Given the description of an element on the screen output the (x, y) to click on. 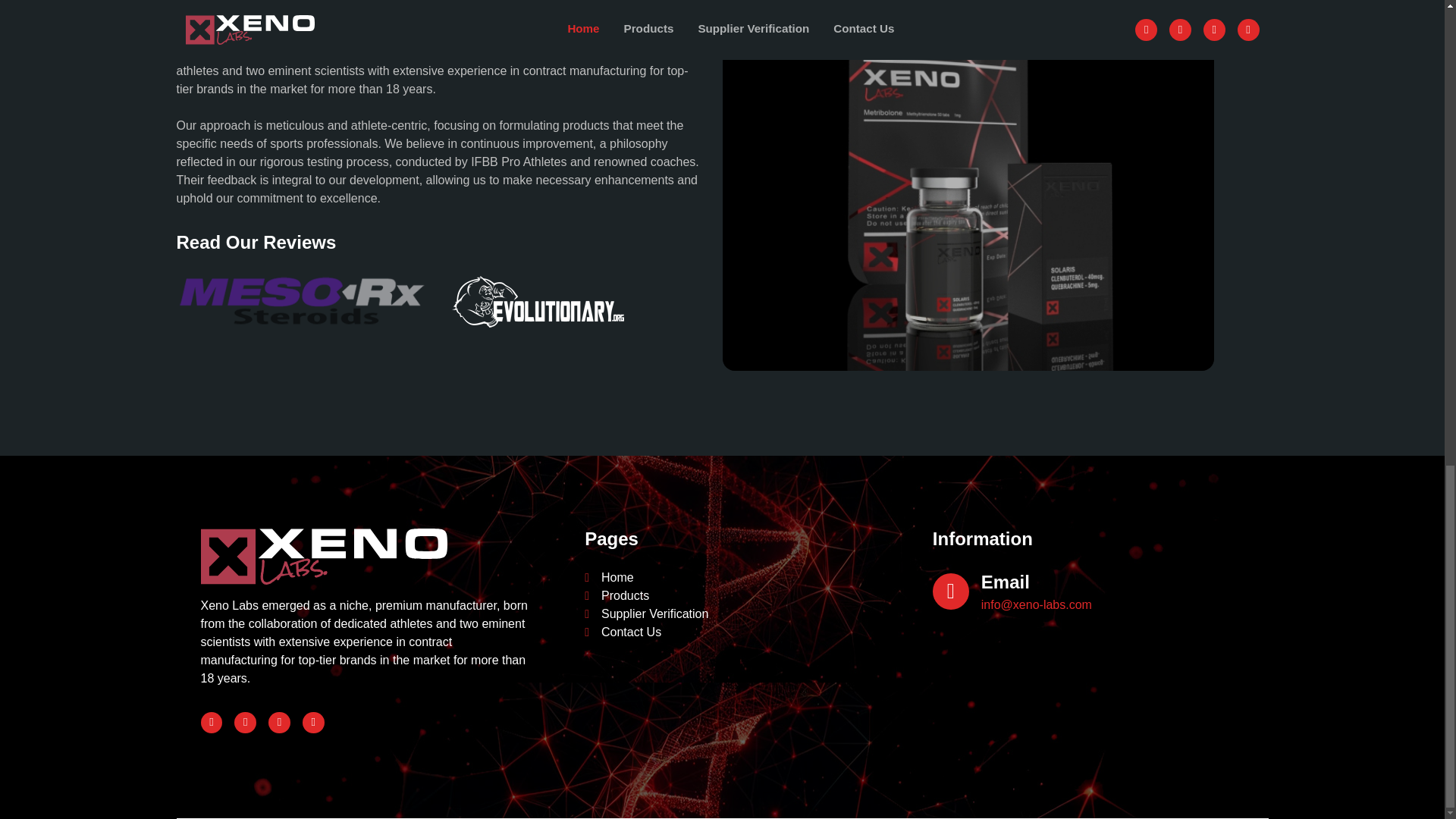
Products (625, 596)
Home (617, 577)
Contact Us (631, 632)
Supplier Verification (654, 614)
